Given the description of an element on the screen output the (x, y) to click on. 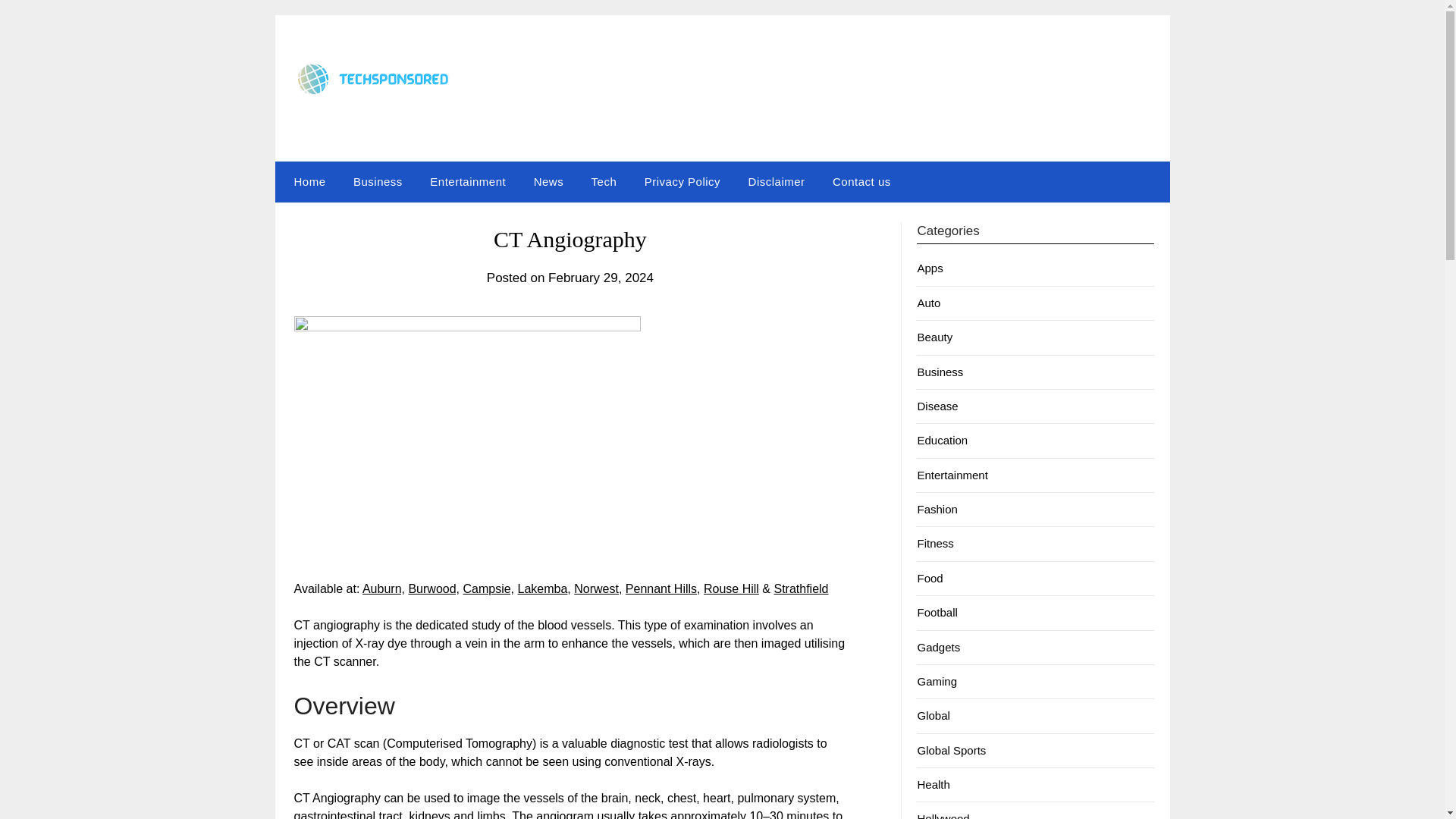
Privacy Policy (681, 181)
Disclaimer (776, 181)
Tech (603, 181)
News (548, 181)
Norwest, (597, 588)
Pennant Hills (661, 588)
Education (942, 440)
Apps (929, 267)
Auto (928, 302)
Auburn, (383, 588)
Entertainment (467, 181)
Business (377, 181)
Home (306, 181)
Disease (937, 405)
Business (939, 371)
